Given the description of an element on the screen output the (x, y) to click on. 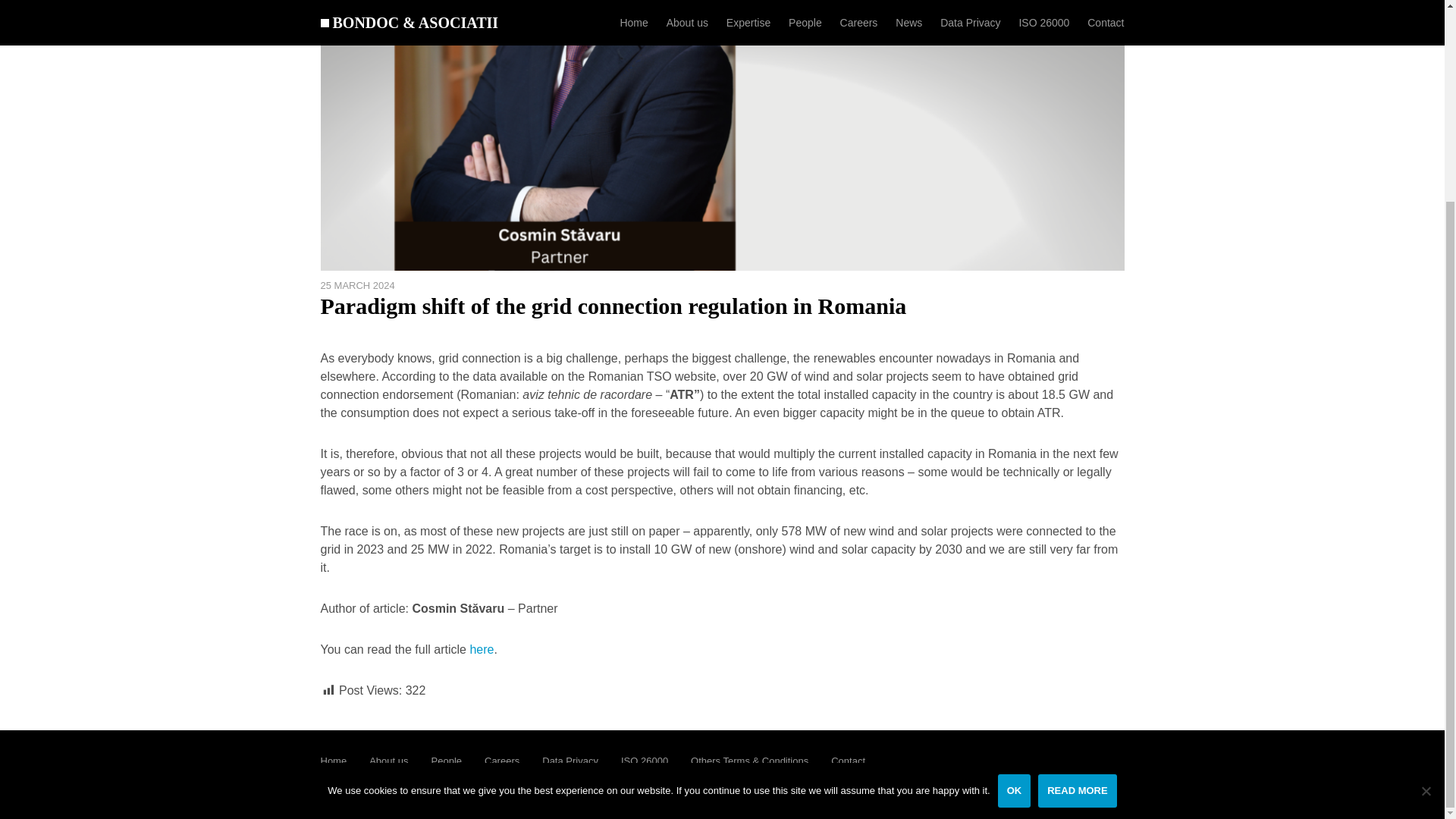
Home (333, 760)
OK (1013, 533)
About us (388, 760)
Careers (501, 760)
ISO 26000 (644, 760)
People (445, 760)
READ MORE (1077, 533)
Contact (847, 760)
No (1425, 533)
here (480, 649)
Data Privacy (569, 760)
